Given the description of an element on the screen output the (x, y) to click on. 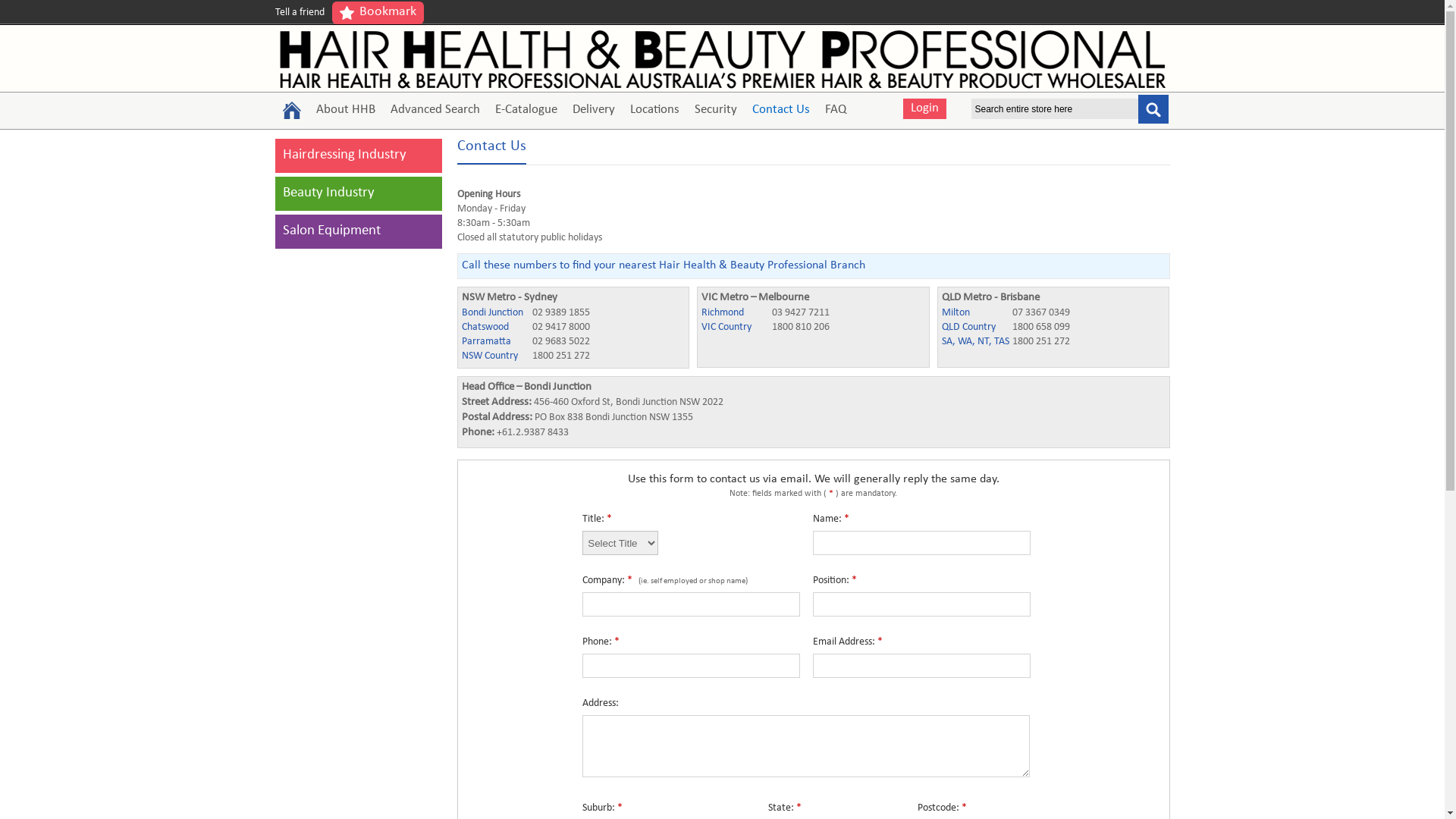
Login Element type: text (924, 108)
Search Element type: hover (1152, 108)
Hair Health & Beauty Professional Element type: hover (721, 59)
FAQ Element type: text (835, 110)
Richmond Element type: text (735, 313)
E-Catalogue Element type: text (525, 110)
Beauty Industry Element type: text (327, 193)
Bondi Junction Element type: text (495, 313)
Parramatta Element type: text (495, 342)
SA, WA, NT, TAS Element type: text (975, 342)
home Element type: hover (291, 109)
Salon Equipment Element type: text (330, 231)
About HHB Element type: text (344, 110)
Bookmark Element type: text (377, 12)
VIC Country Element type: text (735, 327)
Chatswood Element type: text (495, 327)
Hairdressing Industry Element type: text (343, 155)
Contact Us Element type: text (780, 110)
NSW Country Element type: text (495, 356)
Security Element type: text (715, 110)
Delivery Element type: text (592, 110)
Locations Element type: text (653, 110)
Milton Element type: text (975, 313)
Tell a friend Element type: text (298, 12)
QLD Country Element type: text (975, 327)
Advanced Search Element type: text (434, 110)
